Given the description of an element on the screen output the (x, y) to click on. 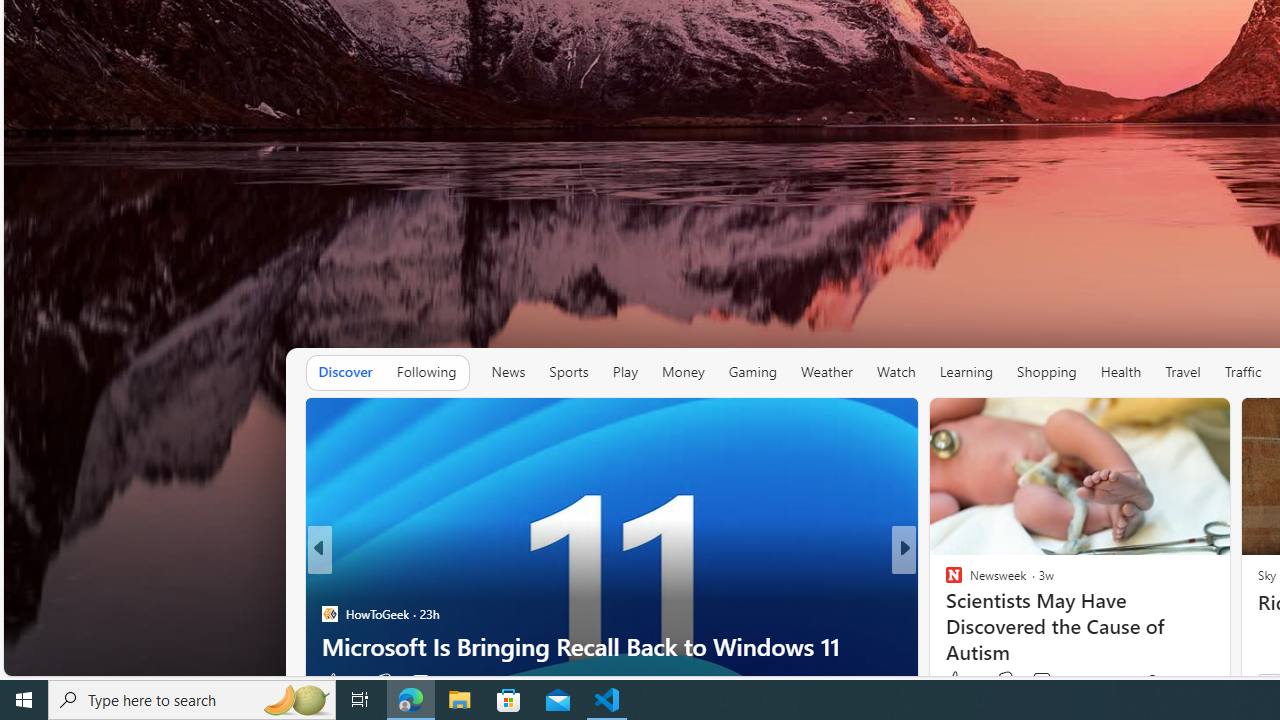
View comments 1k Comment (1051, 681)
Million Dollar Sense (944, 581)
11 Like (956, 681)
ABC News (944, 581)
View comments 4 Comment (1041, 681)
View comments 1k Comment (1042, 681)
View comments 3 Comment (1041, 681)
View comments 10 Comment (1051, 681)
